Given the description of an element on the screen output the (x, y) to click on. 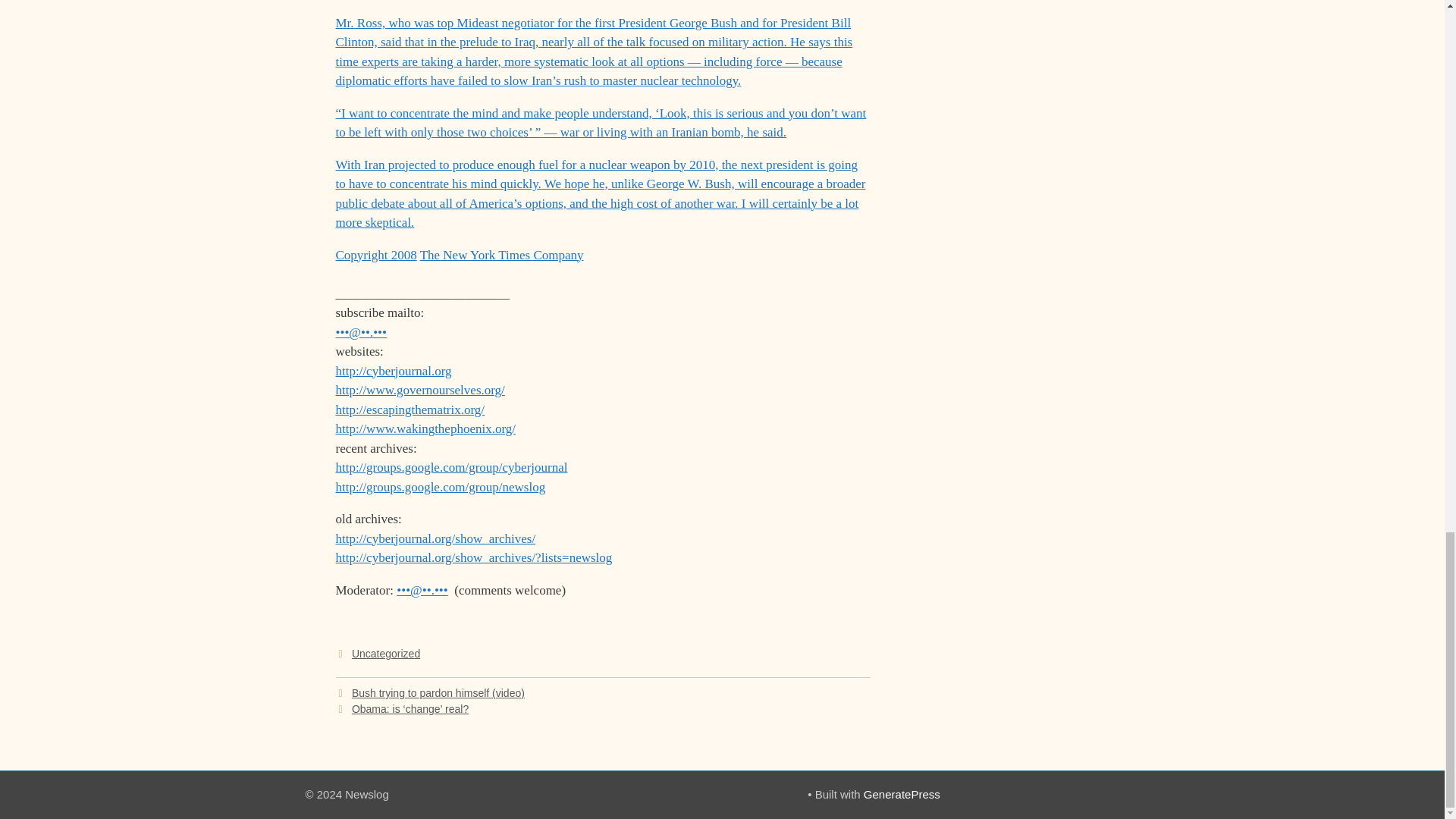
Scroll back to top (1406, 2)
Copyright 2008 (375, 255)
Uncategorized (386, 653)
The New York Times Company (501, 255)
GeneratePress (901, 793)
